Given the description of an element on the screen output the (x, y) to click on. 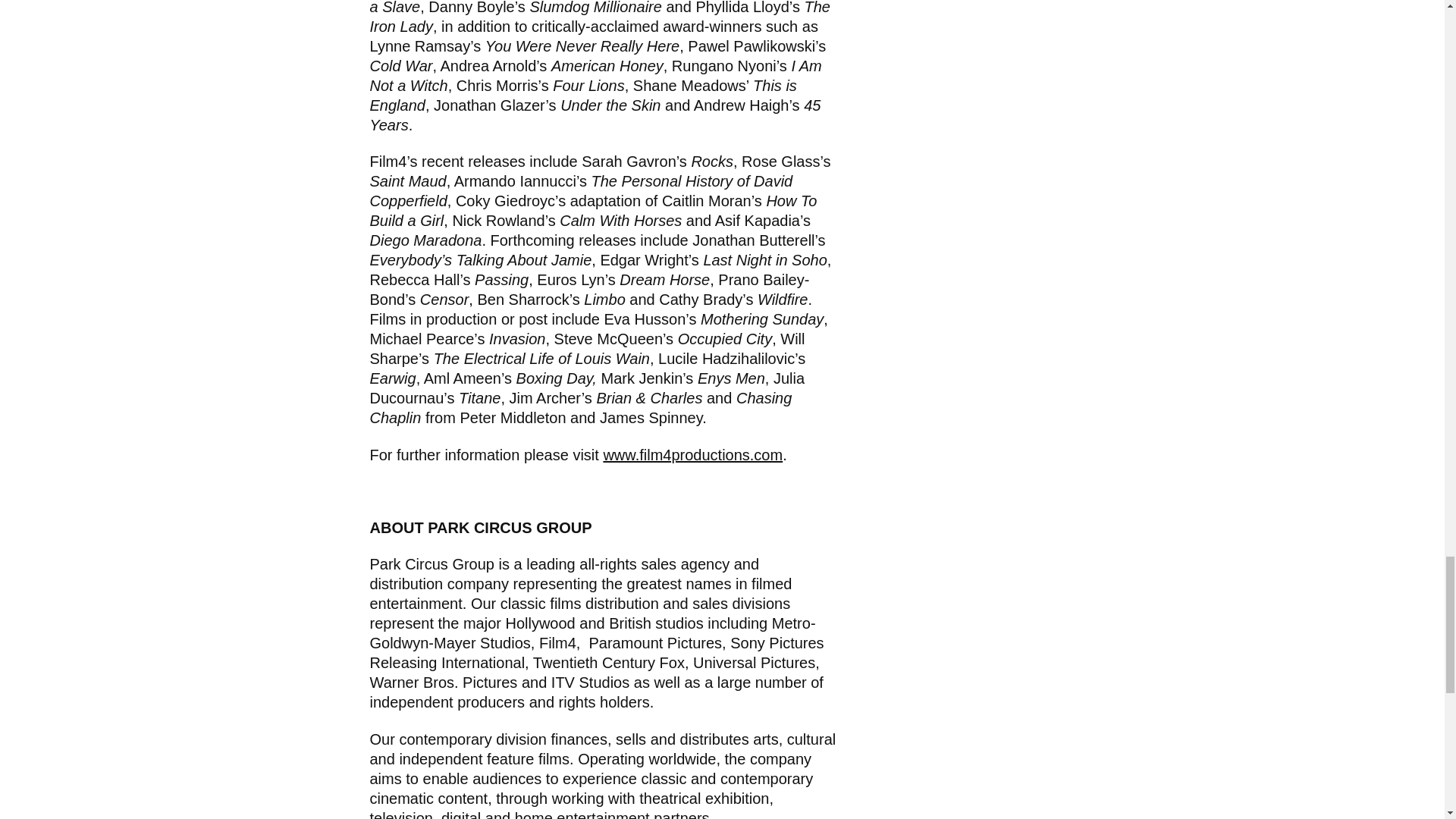
www.film4productions.com (692, 454)
